Given the description of an element on the screen output the (x, y) to click on. 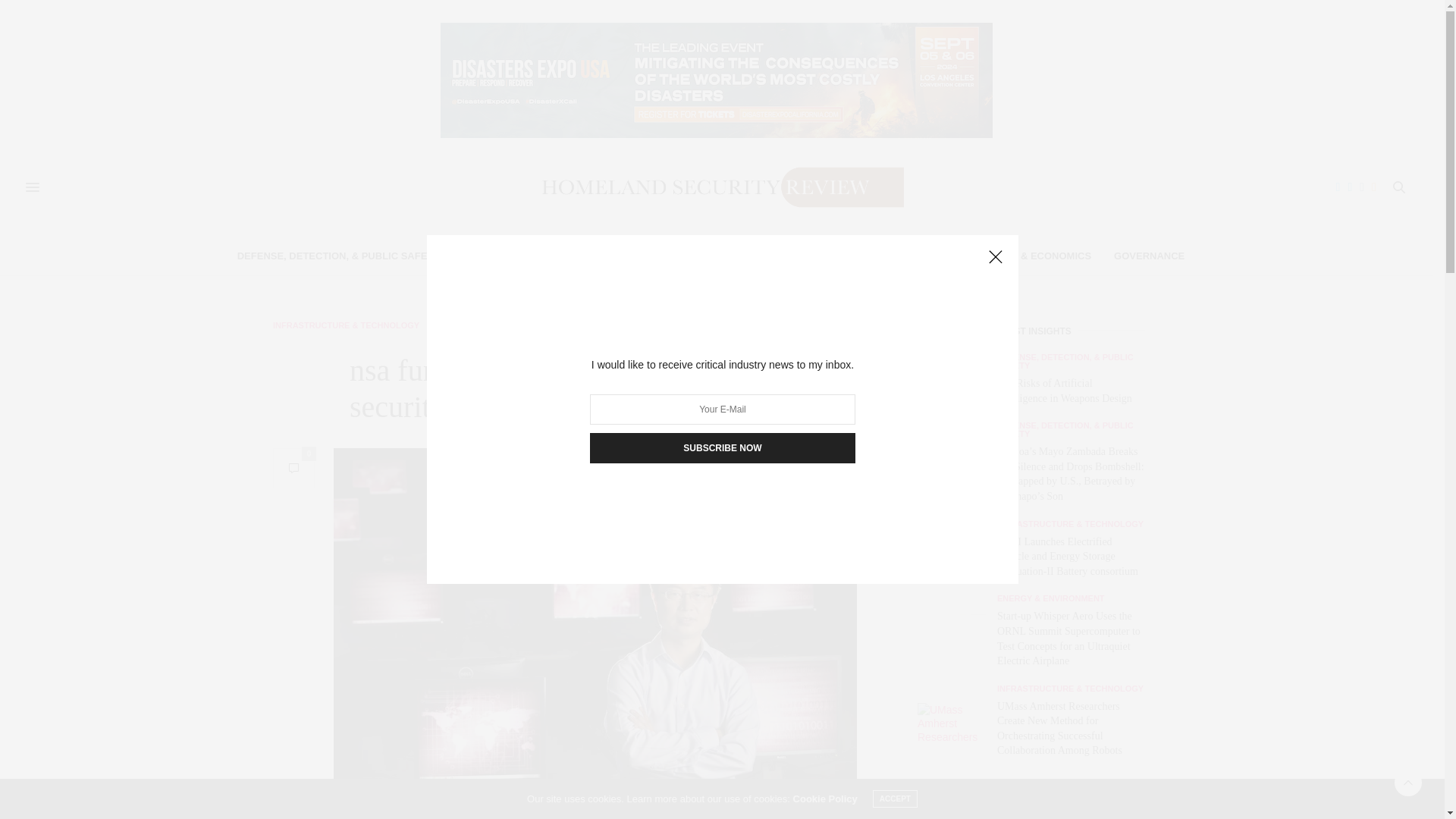
GOVERNANCE (1149, 256)
SUBSCRIBE NOW (722, 448)
The Risks of Artificial Intelligence in Weapons Design (951, 381)
The Risks of Artificial Intelligence in Weapons Design (1064, 390)
Homeland Security Review (716, 186)
